Given the description of an element on the screen output the (x, y) to click on. 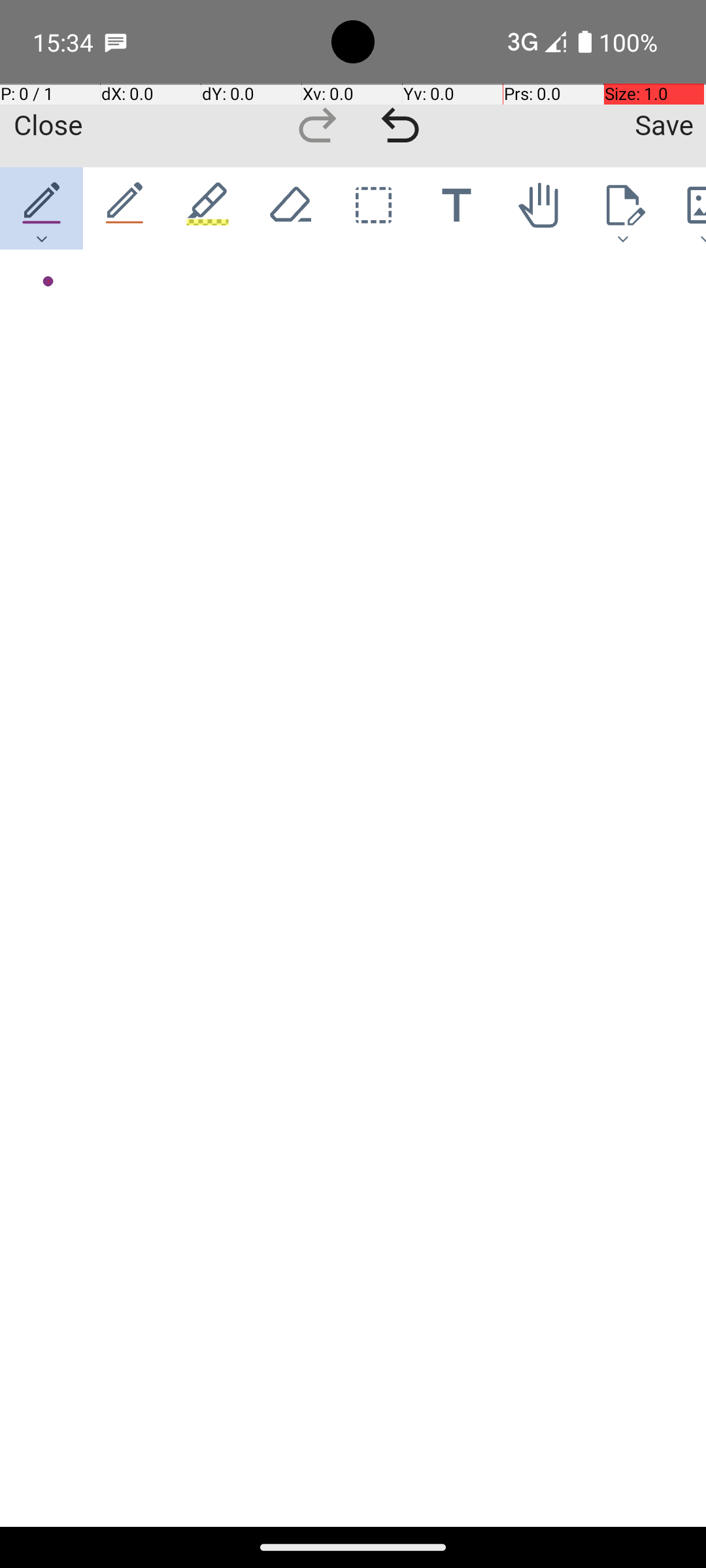
Added Stroke Element type: android.widget.TextView (40, 281)
Re-render as text Element type: android.widget.Button (47, 308)
Enable sound-based exploration Element type: android.widget.Button (70, 309)
Pen 1 Element type: android.widget.ToggleButton (41, 208)
Pen 2 Element type: android.widget.Button (125, 208)
Pen 3 Element type: android.widget.Button (207, 208)
Eraser Element type: android.widget.Button (290, 208)
Select Element type: android.widget.Button (373, 208)
Text Element type: android.widget.Button (455, 208)
Pan Element type: android.widget.Button (540, 208)
Page Element type: android.widget.Button (622, 208)
